Given the description of an element on the screen output the (x, y) to click on. 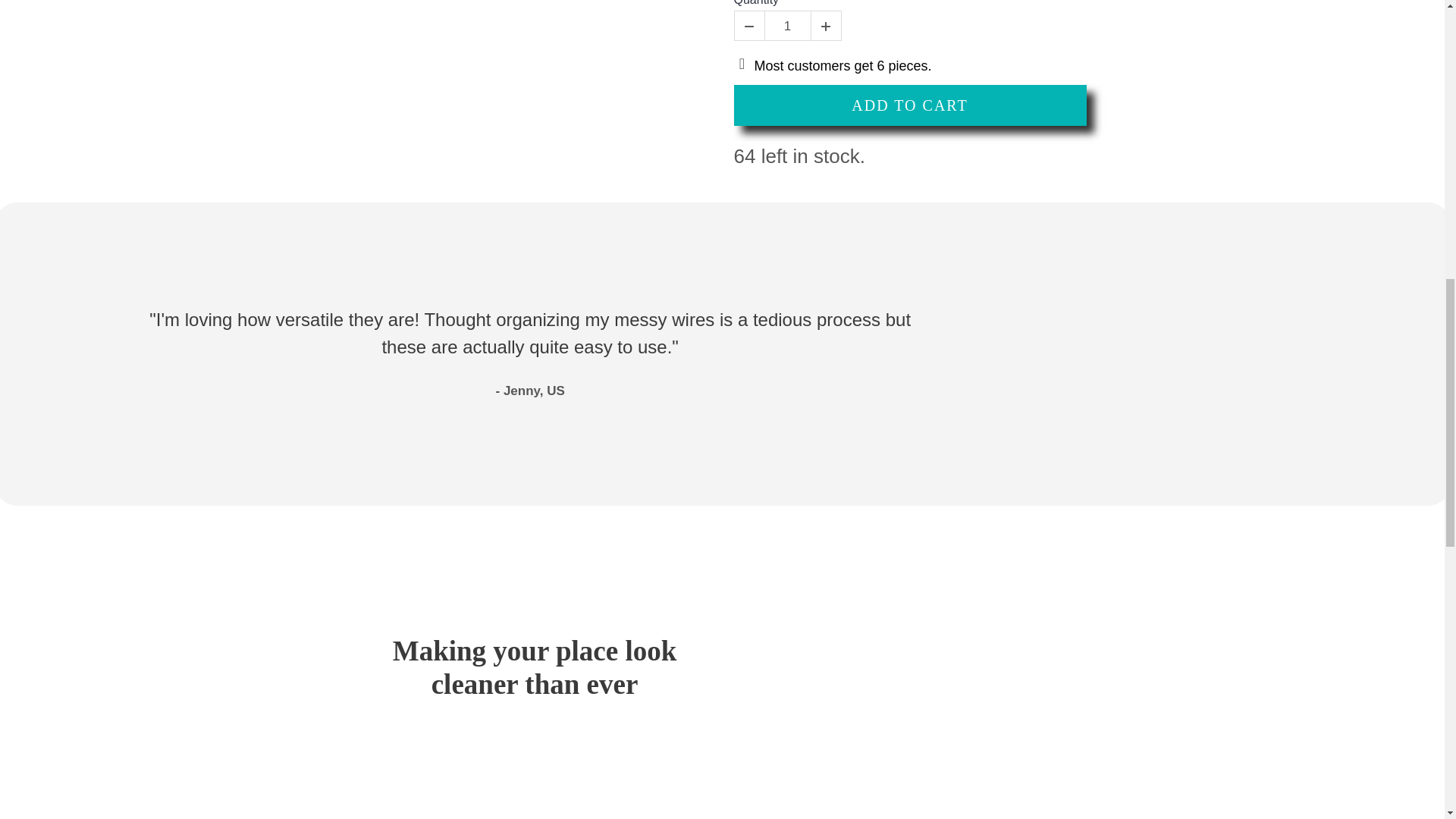
ADD TO CART (909, 105)
1 (786, 26)
